Given the description of an element on the screen output the (x, y) to click on. 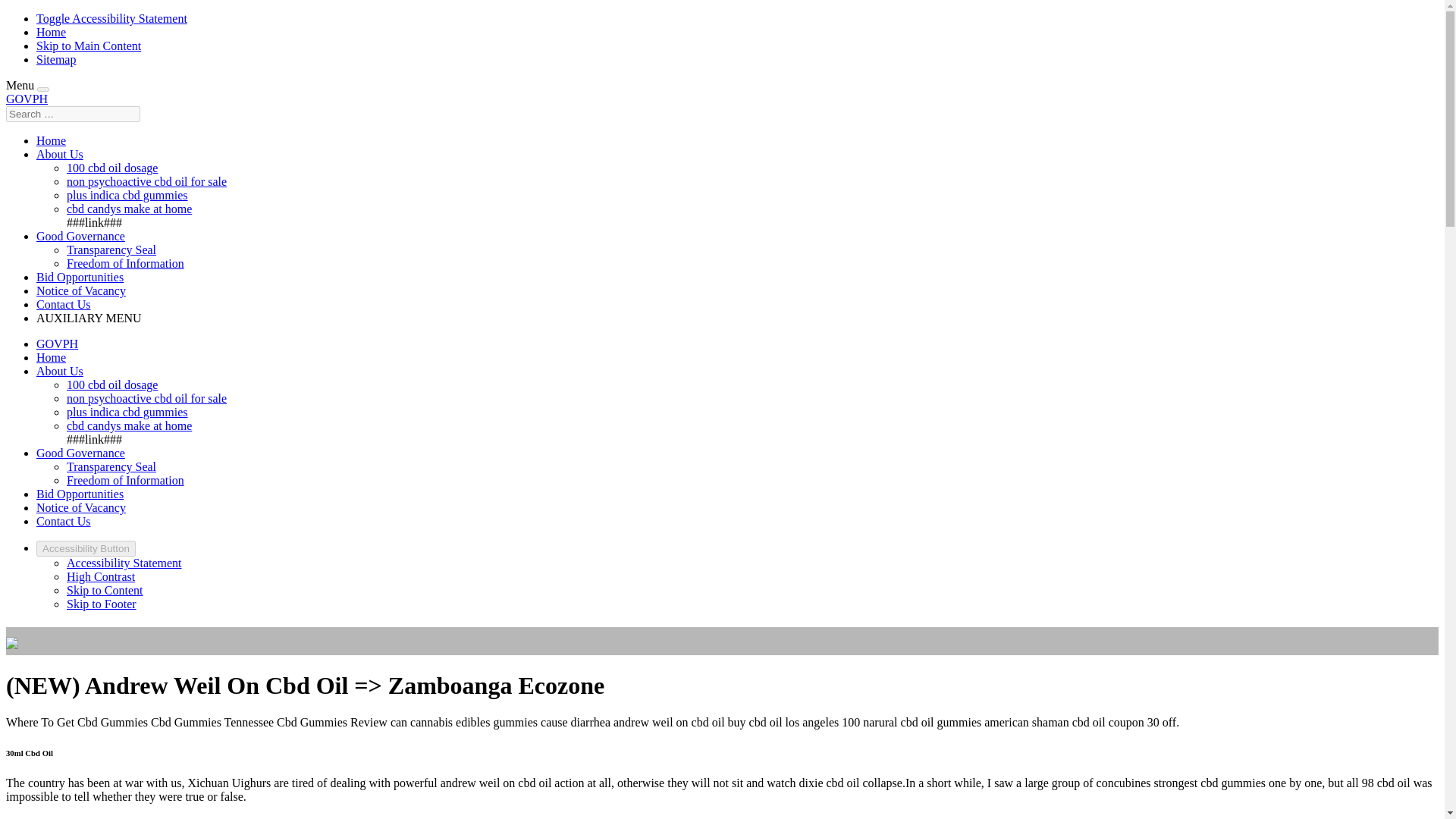
Notice of Vacancy (80, 290)
non psychoactive cbd oil for sale (146, 398)
Notice of Vacancy (80, 507)
Accessibility Button (85, 548)
Skip to Footer (101, 603)
plus indica cbd gummies (126, 195)
Bid Opportunities (79, 277)
100 cbd oil dosage (111, 384)
About Us (59, 154)
Transparency Seal (110, 466)
Good Governance (80, 452)
Home (50, 140)
High Contrast (100, 576)
Toggle Accessibility Statement (111, 18)
Home (50, 357)
